Given the description of an element on the screen output the (x, y) to click on. 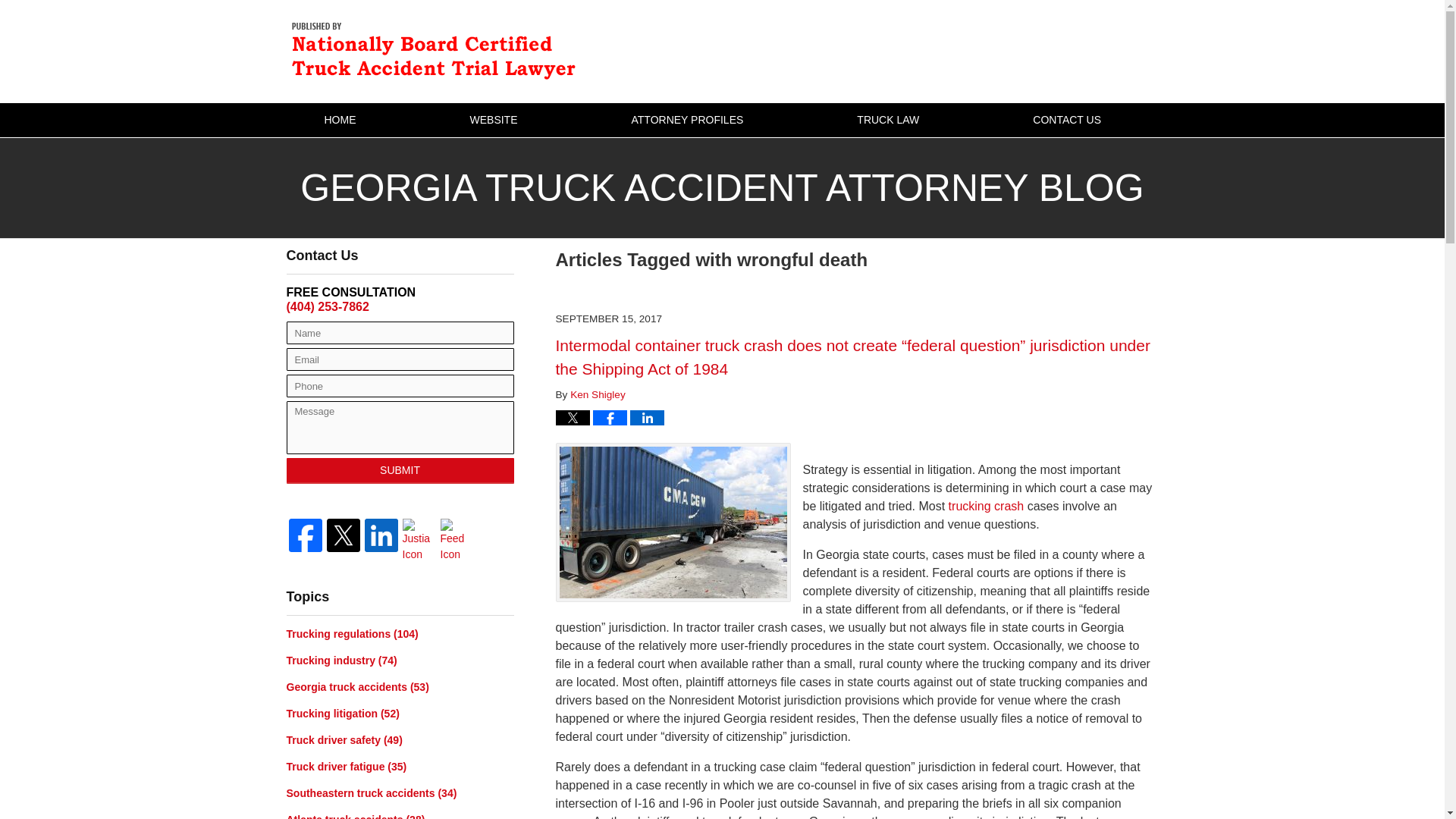
Ken Shigley (598, 394)
Published By Kenneth L. Shigley, LLC (1086, 51)
TRUCK LAW (887, 120)
WEBSITE (492, 120)
trucking crash (987, 505)
Georgia Truck Accident Attorney Blog (437, 49)
HOME (339, 120)
ATTORNEY PROFILES (687, 120)
CONTACT US (1066, 120)
